Given the description of an element on the screen output the (x, y) to click on. 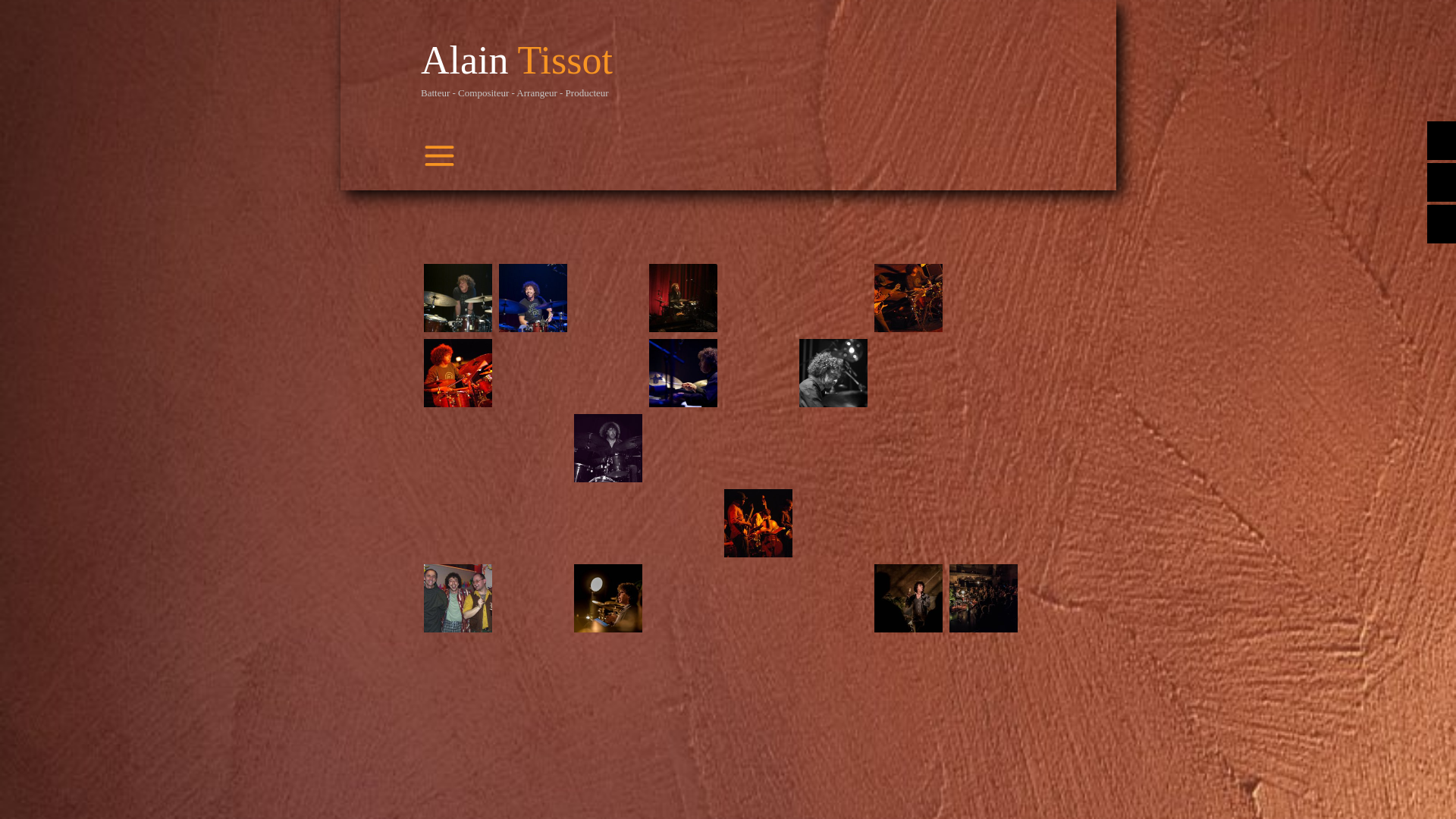
Tissot Element type: text (564, 59)
